Given the description of an element on the screen output the (x, y) to click on. 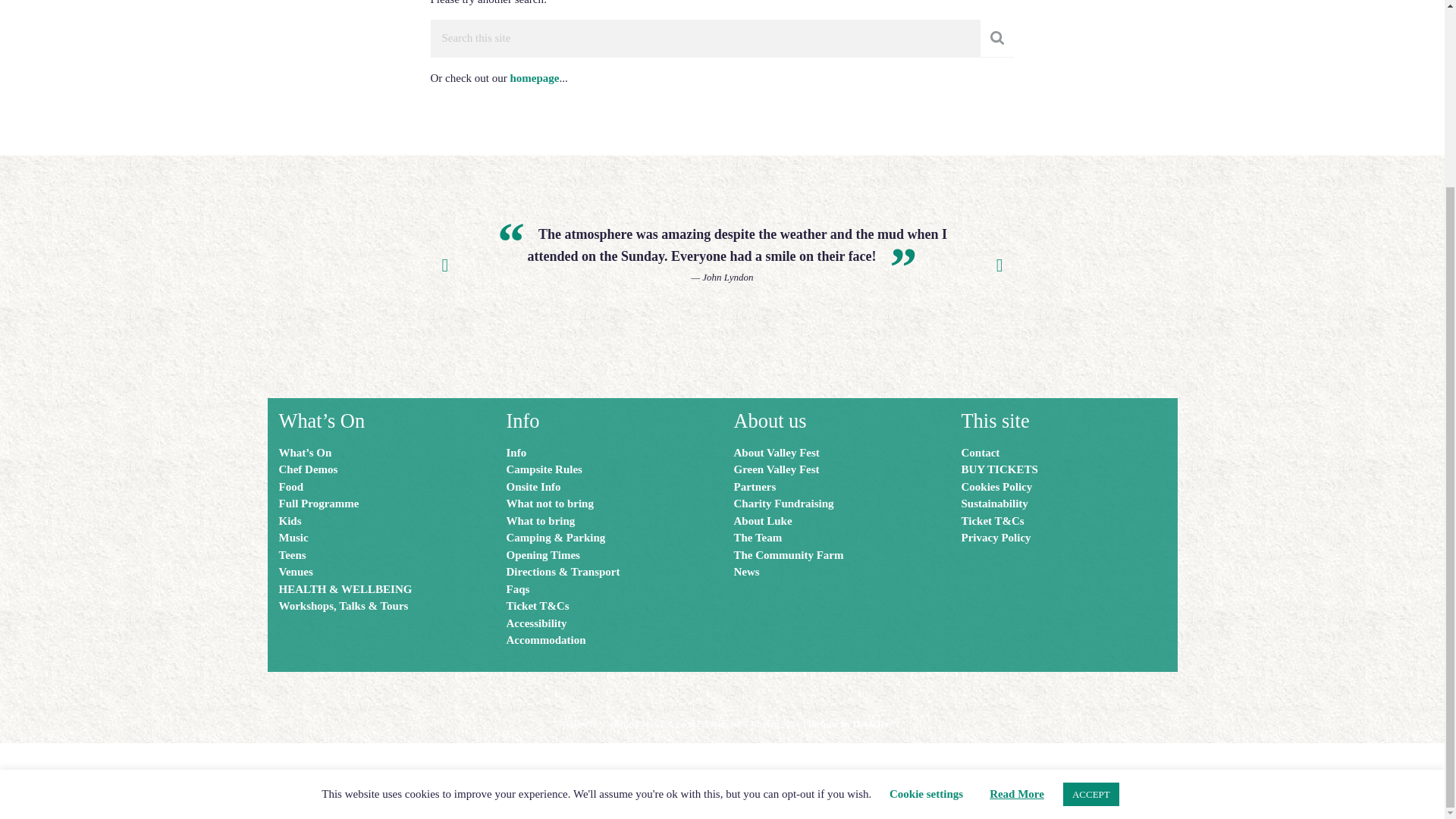
Search for: (704, 37)
